Given the description of an element on the screen output the (x, y) to click on. 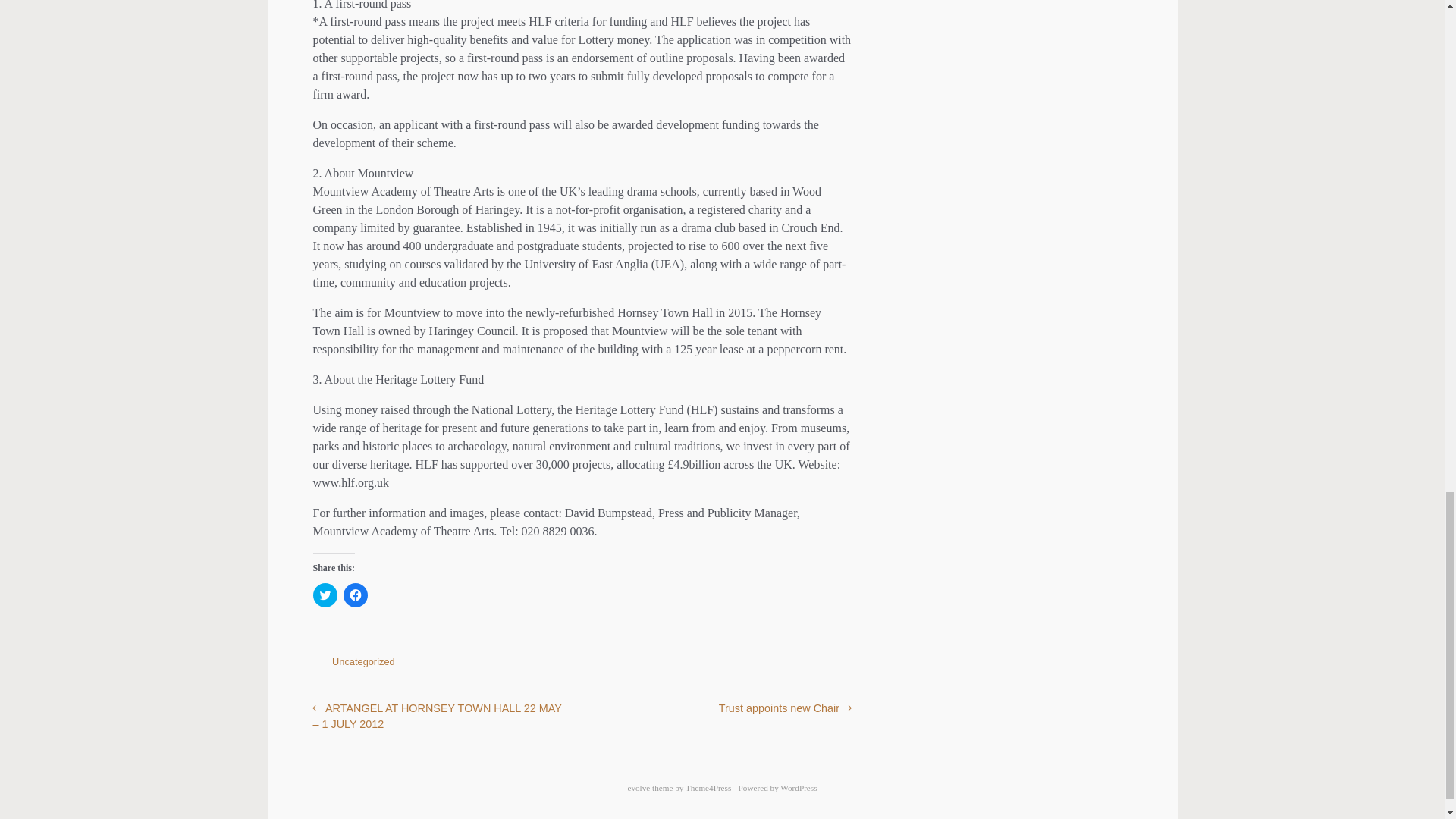
Share on Google Plus (777, 665)
Trust appoints new Chair (785, 707)
Share on Pinterest (799, 665)
Share on Facebook (755, 665)
evolve (638, 787)
Click to share on Facebook (354, 595)
Share by Email (822, 665)
Click to share on Twitter (324, 595)
Uncategorized (362, 661)
Share on Twitter (732, 665)
WordPress (798, 787)
